Given the description of an element on the screen output the (x, y) to click on. 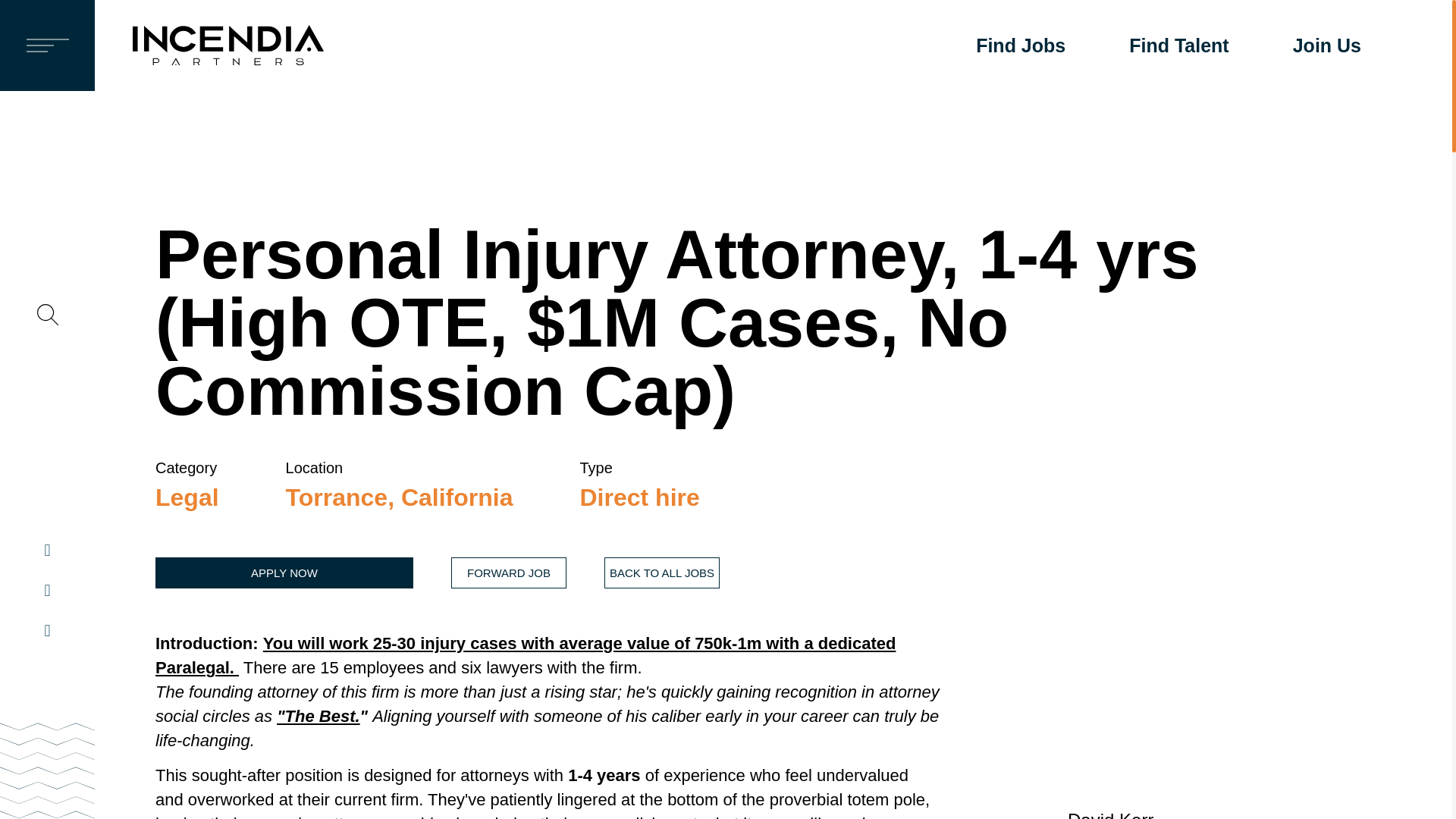
APPLY NOW (284, 572)
Find Jobs (1020, 45)
FORWARD JOB (508, 572)
BACK TO ALL JOBS (661, 572)
Find Talent (1178, 45)
Join Us (1326, 45)
